Given the description of an element on the screen output the (x, y) to click on. 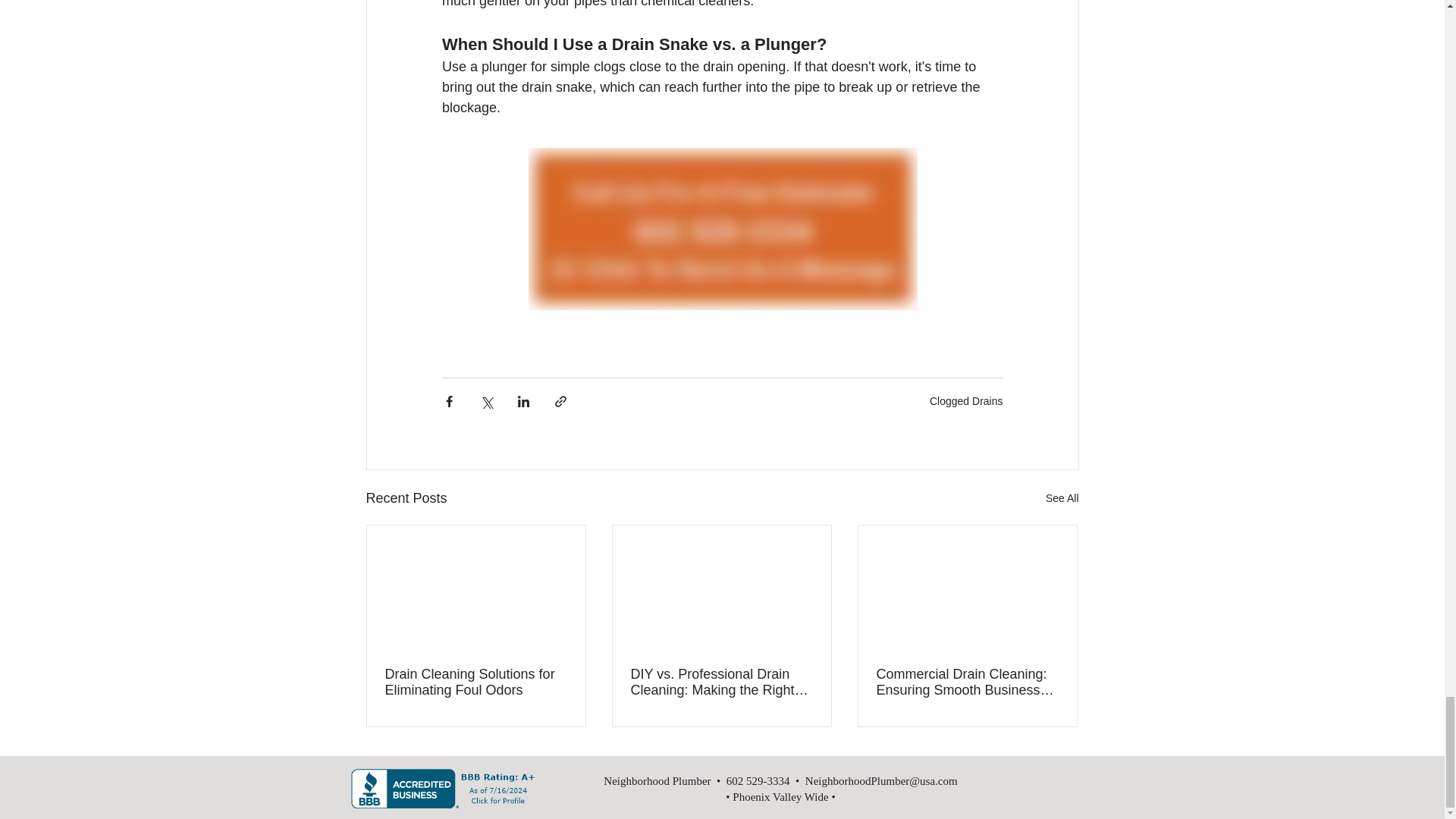
See All (1061, 498)
Drain Cleaning Solutions for Eliminating Foul Odors (476, 682)
Embedded Content (442, 788)
602 529-3334 (758, 780)
DIY vs. Professional Drain Cleaning: Making the Right Choice (721, 682)
Clogged Drains (966, 400)
